Given the description of an element on the screen output the (x, y) to click on. 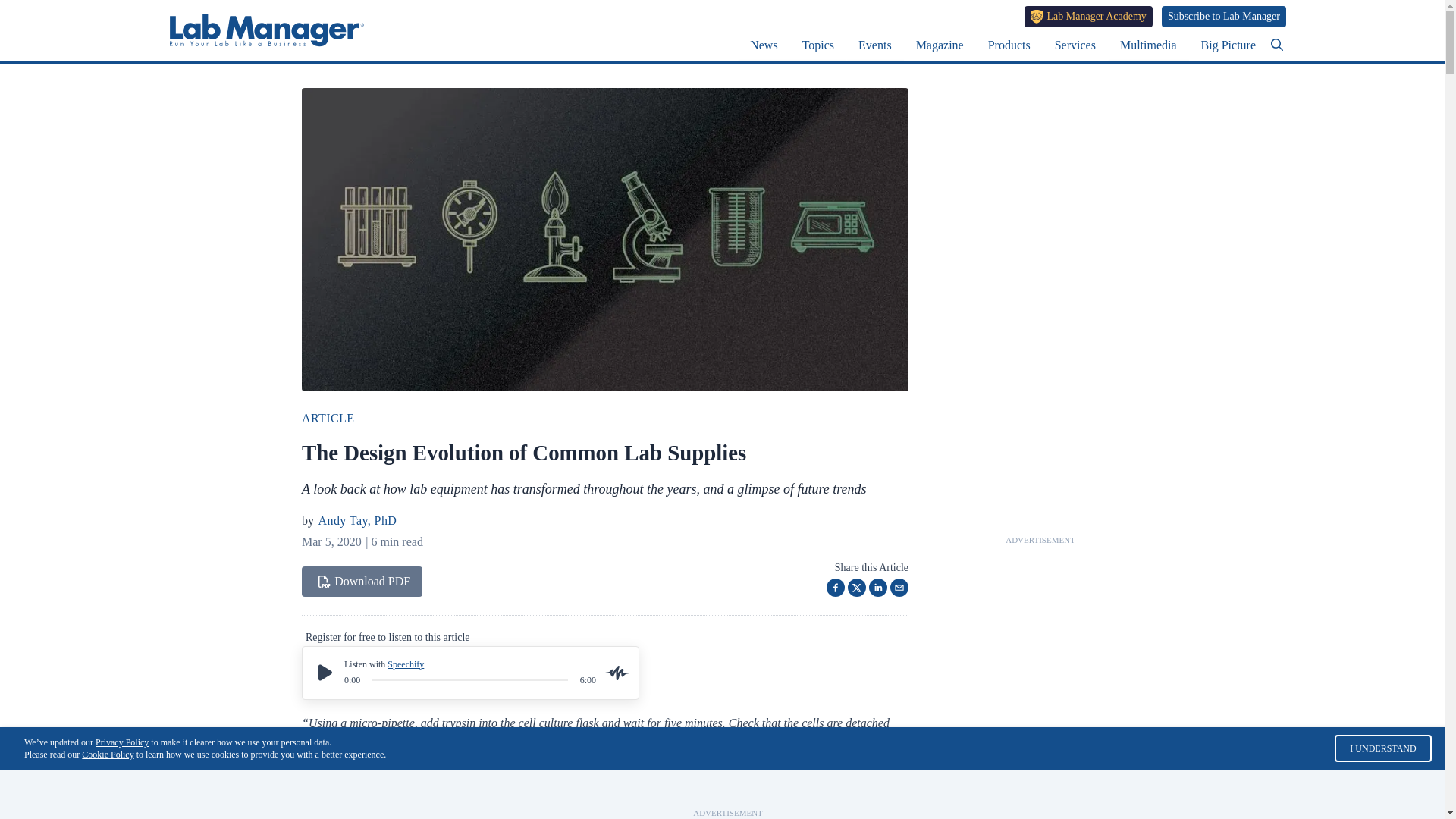
News (763, 45)
3rd party ad content (728, 789)
Lab Manager Academy (1089, 16)
Topics (817, 45)
Subscribe to Lab Manager (1223, 16)
